Given the description of an element on the screen output the (x, y) to click on. 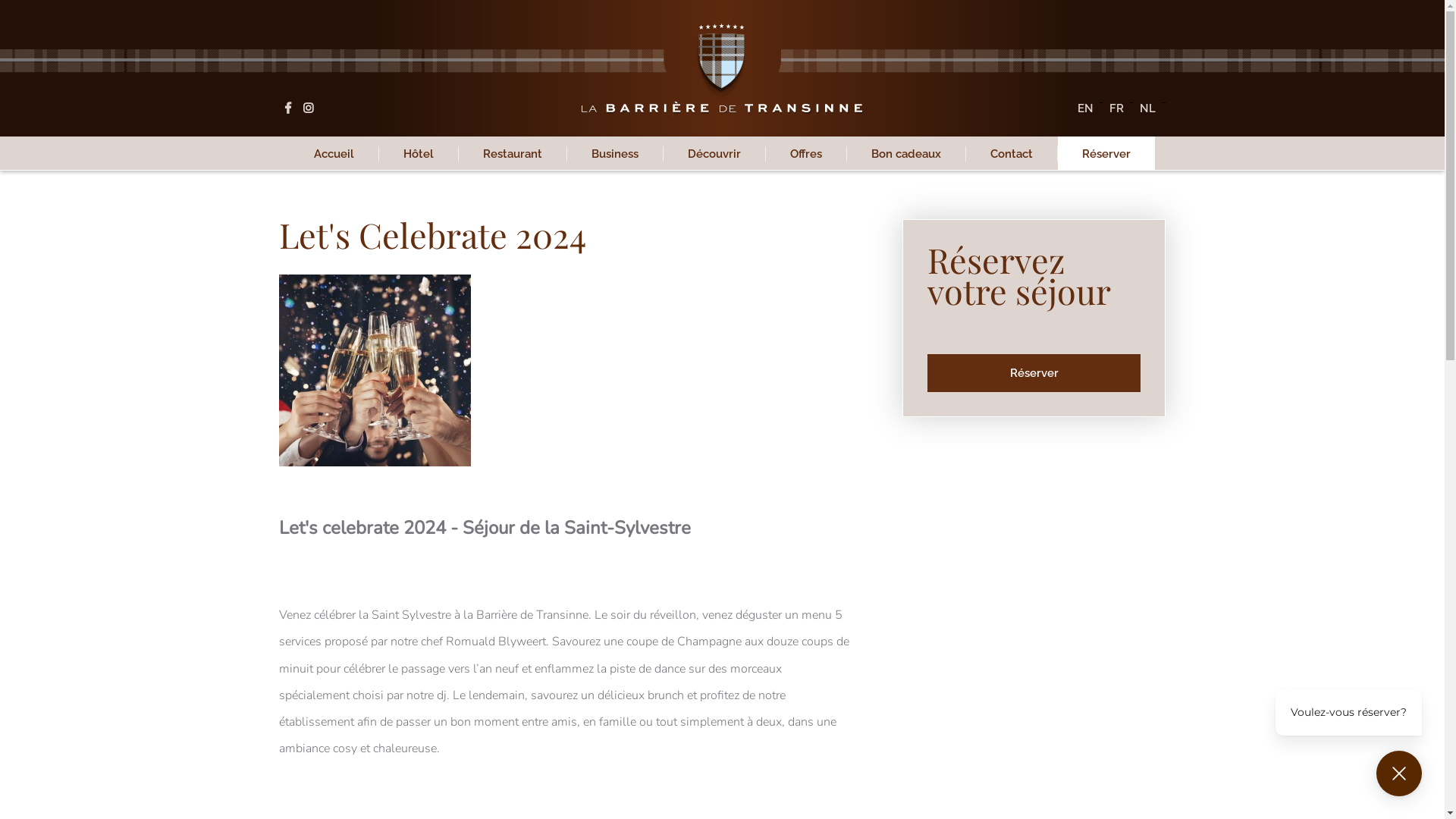
FR Element type: text (1116, 108)
Restaurant Element type: text (512, 153)
Accueil Element type: text (333, 153)
NL Element type: text (1147, 108)
Offres Element type: text (805, 153)
EN Element type: text (1085, 108)
Contact Element type: text (1011, 153)
Bon cadeaux Element type: text (906, 153)
Business Element type: text (614, 153)
